Given the description of an element on the screen output the (x, y) to click on. 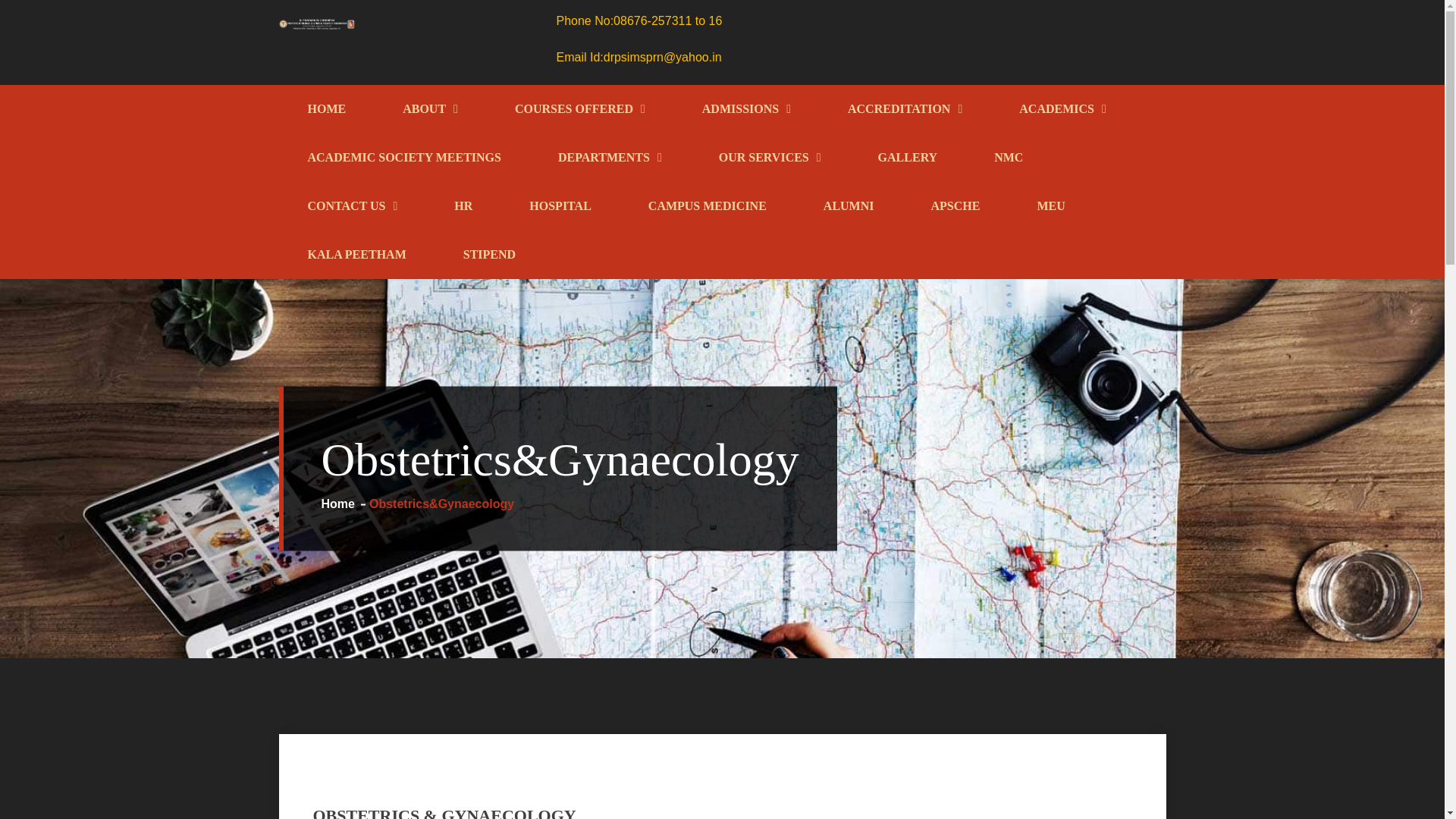
HOME (326, 109)
COURSES OFFERED (579, 109)
ACCREDITATION (904, 109)
ADMISSIONS (745, 109)
ABOUT (430, 109)
